Given the description of an element on the screen output the (x, y) to click on. 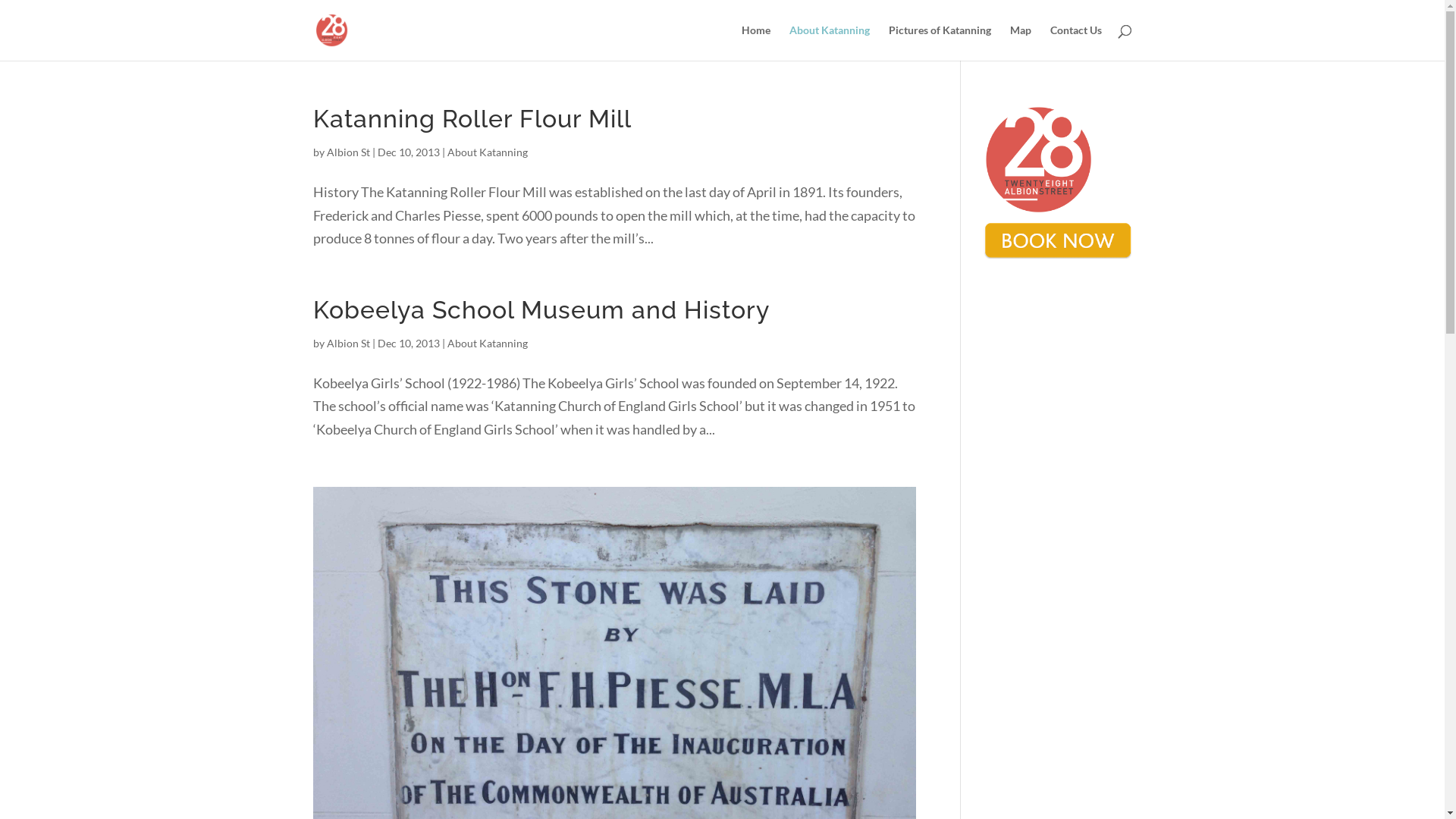
Contact Us Element type: text (1075, 42)
About Katanning Element type: text (487, 151)
About Katanning Element type: text (828, 42)
Kobeelya School Museum and History Element type: text (540, 309)
Albion St Element type: text (347, 342)
Map Element type: text (1020, 42)
Katanning Roller Flour Mill Element type: text (471, 118)
Pictures of Katanning Element type: text (939, 42)
About Katanning Element type: text (487, 342)
Home Element type: text (755, 42)
Albion St Element type: text (347, 151)
